Given the description of an element on the screen output the (x, y) to click on. 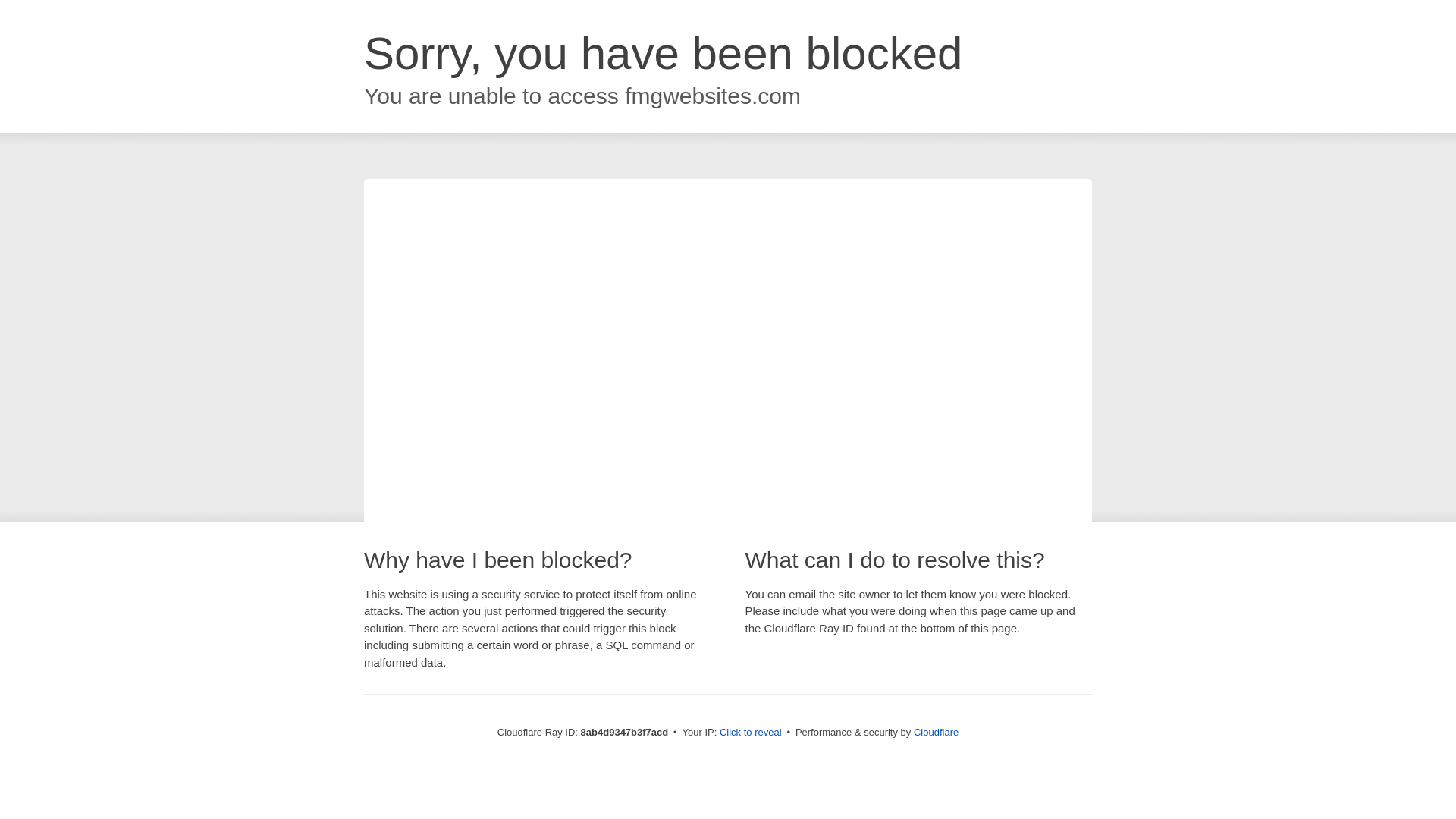
Cloudflare (936, 731)
Click to reveal (750, 732)
